Given the description of an element on the screen output the (x, y) to click on. 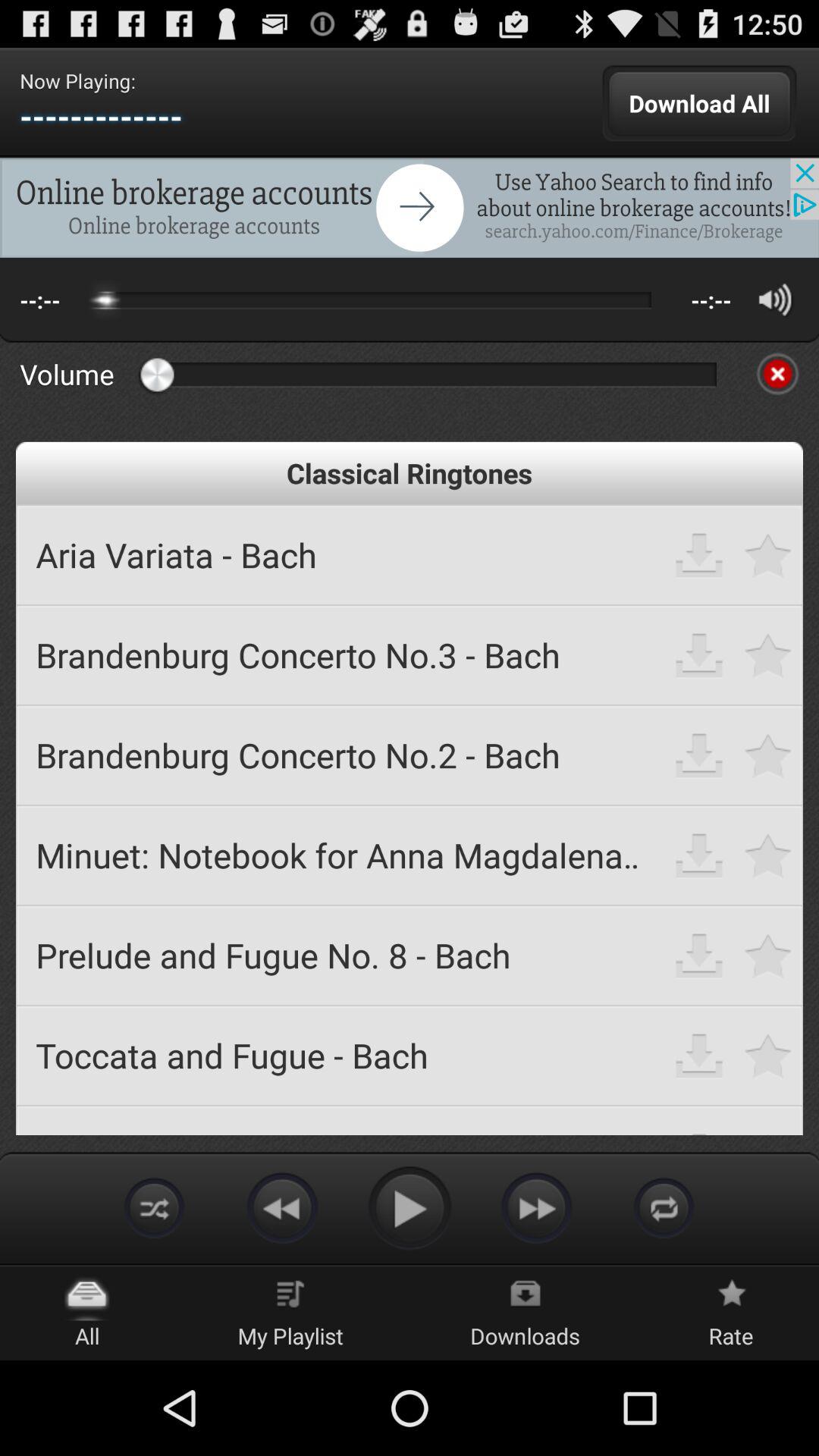
download ringtone (699, 654)
